Given the description of an element on the screen output the (x, y) to click on. 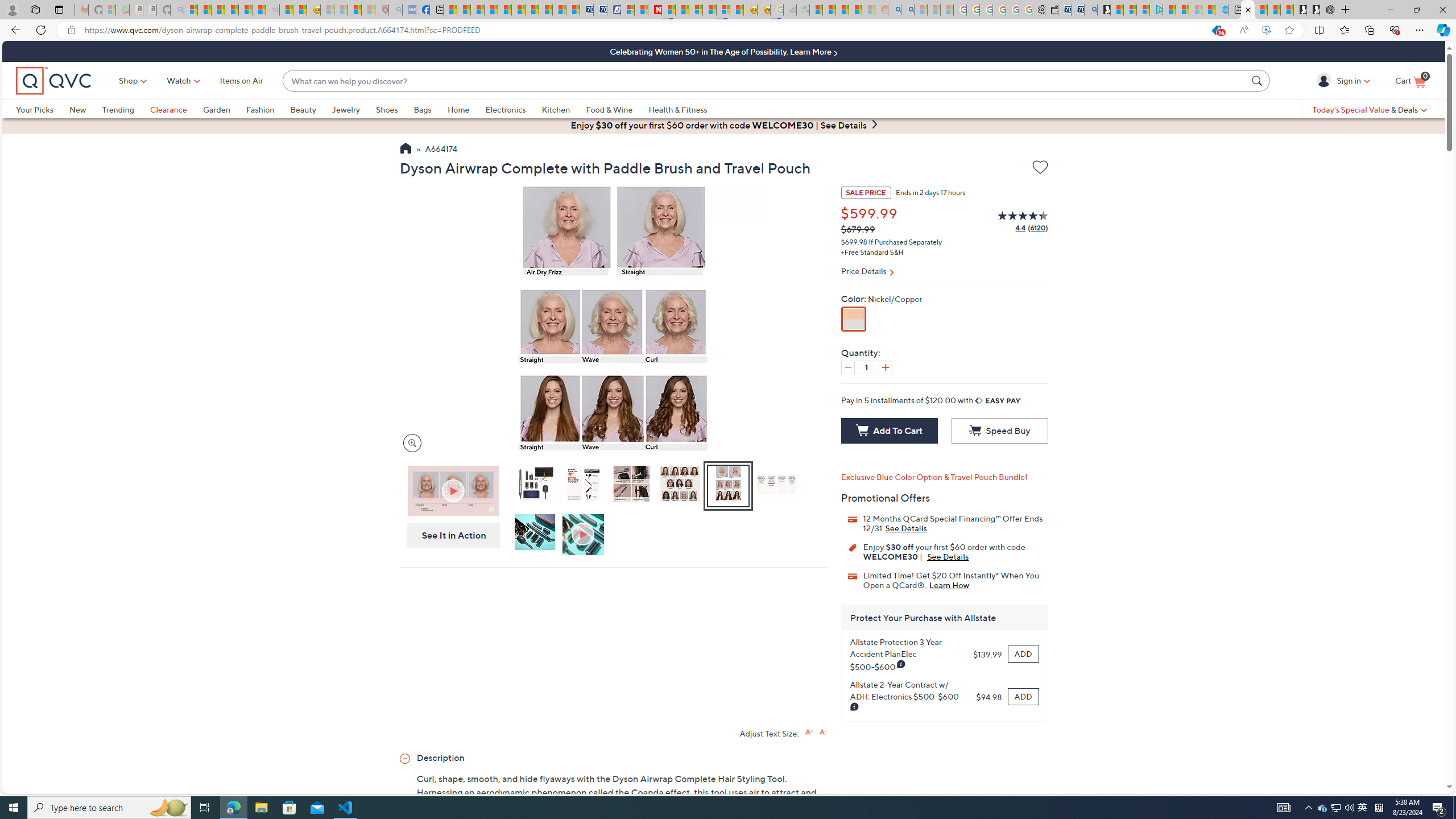
12 Popular Science Lies that Must be Corrected - Sleeping (368, 9)
Combat Siege - Sleeping (271, 9)
Quantity (866, 367)
See Details (948, 556)
